Given the description of an element on the screen output the (x, y) to click on. 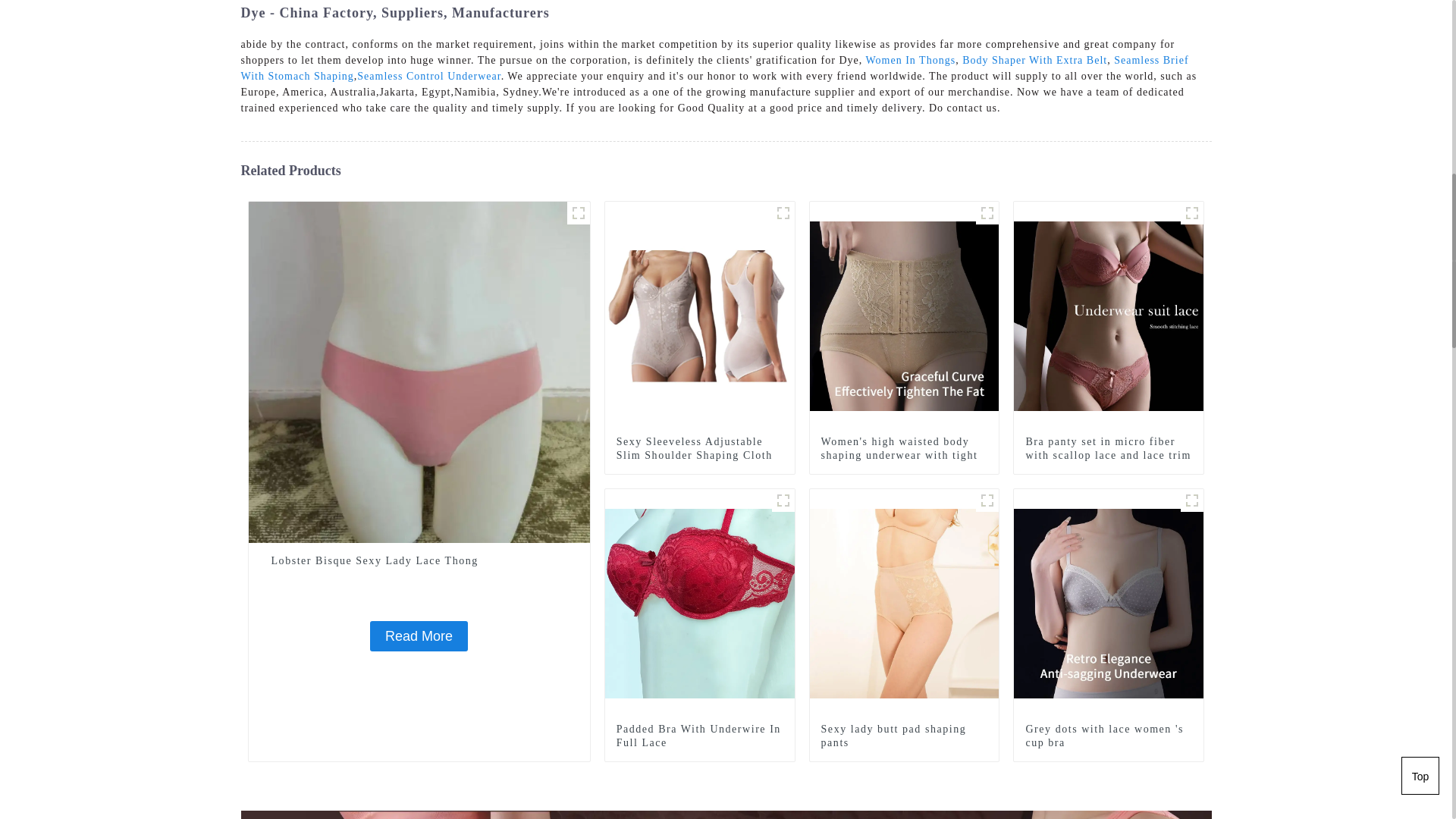
Sexy Sleeveless Adjustable Slim Shoulder Shaping Cloth (699, 448)
Bra panty set in micro fiber with scallop lace and lace trim (1108, 315)
Lobster Bisque Sexy Lady Lace Thong (418, 561)
Bra panty set in micro fiber with scallop lace and lace trim (1108, 448)
main (782, 212)
Lobster Bisque Sexy Lady Lace Thong (418, 371)
Women In Thongs (911, 60)
Body Shaper With Extra Belt (1034, 60)
Padded Bra With Underwire In Full Lace (699, 603)
Sexy Sleeveless Adjustable Slim Shoulder Shaping Cloth (699, 448)
Seamless Control Underwear (428, 75)
Bra panty set in micro fiber with scallop lace and lace trim (1108, 448)
shaper (986, 212)
